Given the description of an element on the screen output the (x, y) to click on. 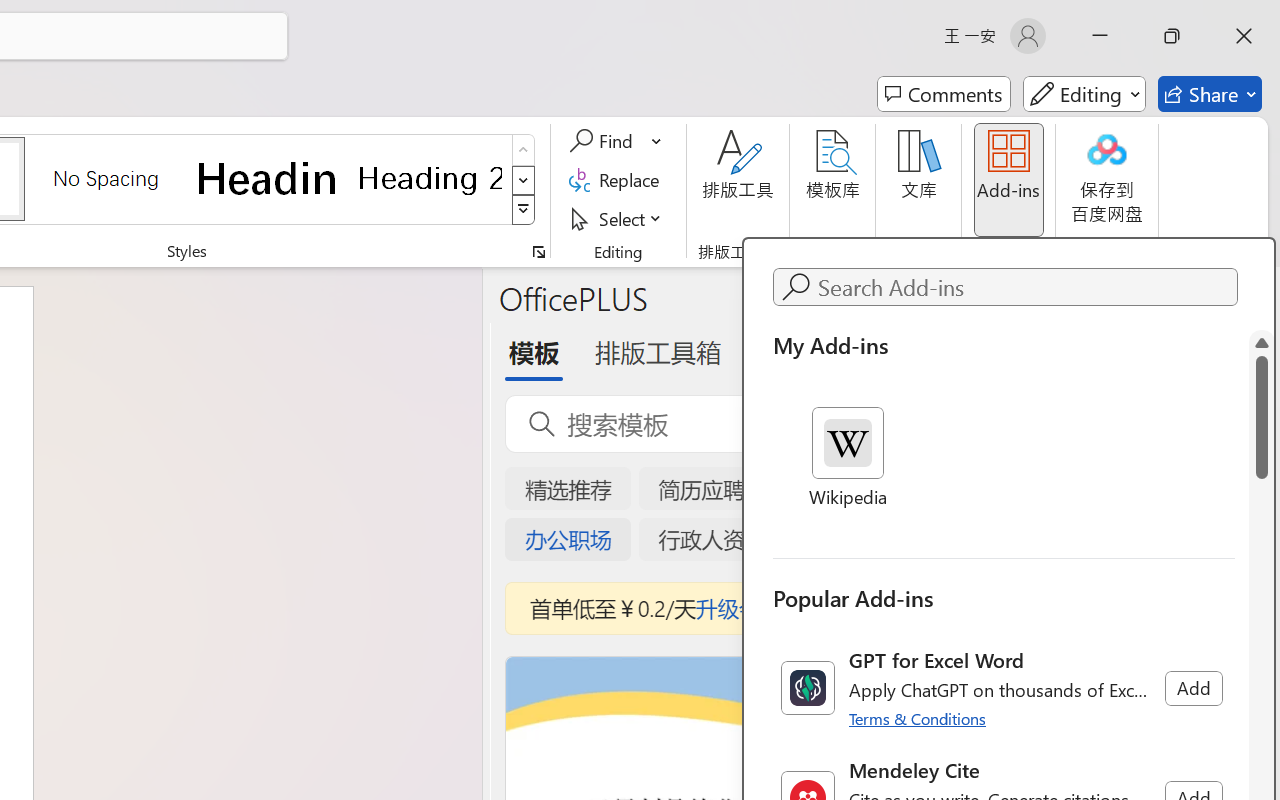
Select (618, 218)
Close (1244, 36)
Find (604, 141)
